Given the description of an element on the screen output the (x, y) to click on. 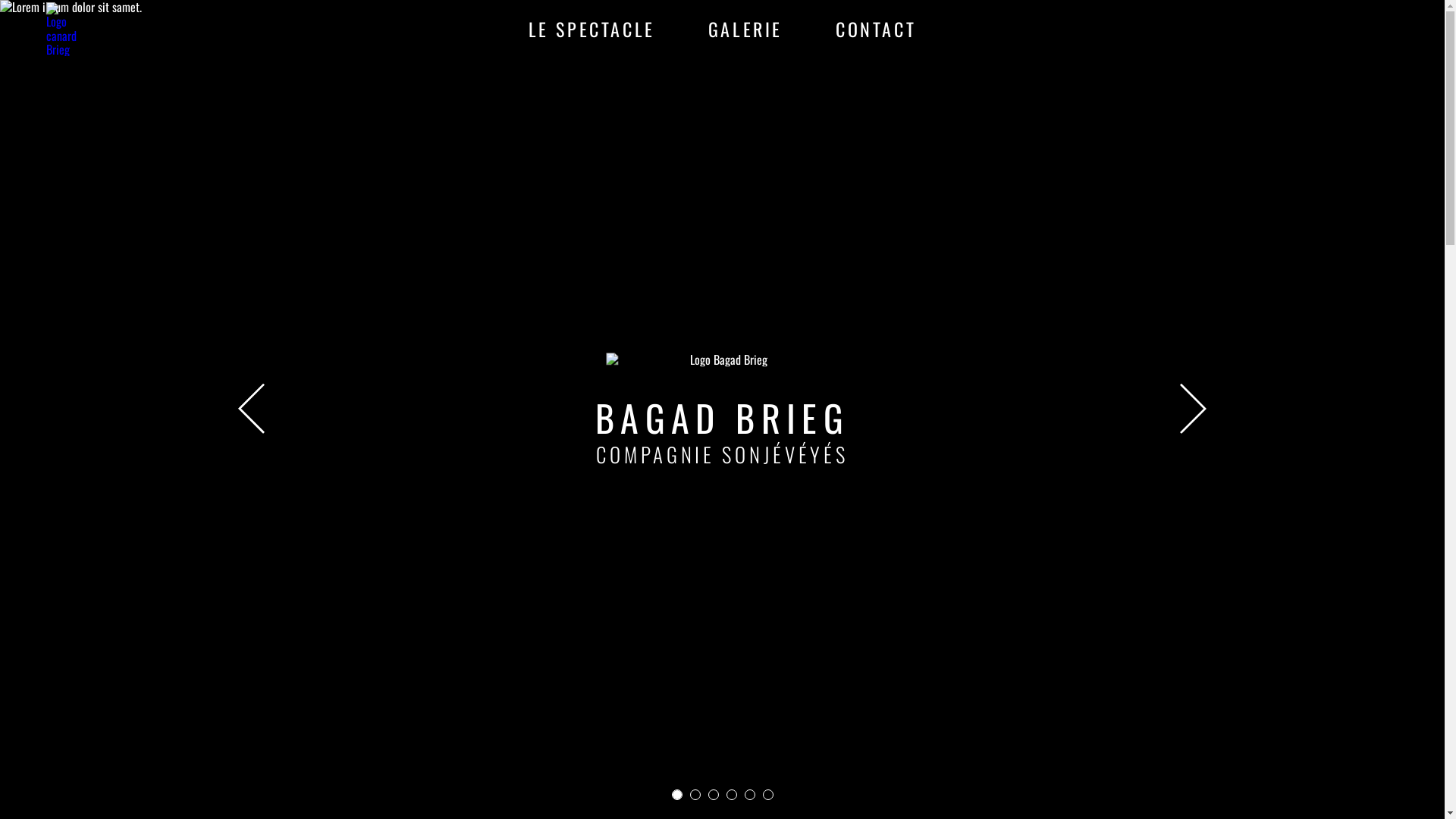
CONTACT Element type: text (875, 28)
GALERIE Element type: text (745, 28)
Voir l'image suivante Element type: hover (1192, 409)
LE SPECTACLE Element type: text (591, 28)
Voir l'image 0 Element type: hover (676, 794)
Voir l'image 4 Element type: hover (749, 794)
Voir l'image 3 Element type: hover (731, 794)
Voir l'image 1 Element type: hover (695, 794)
Voir l'image 5 Element type: hover (767, 794)
Voir l'image 2 Element type: hover (713, 794)
